Given the description of an element on the screen output the (x, y) to click on. 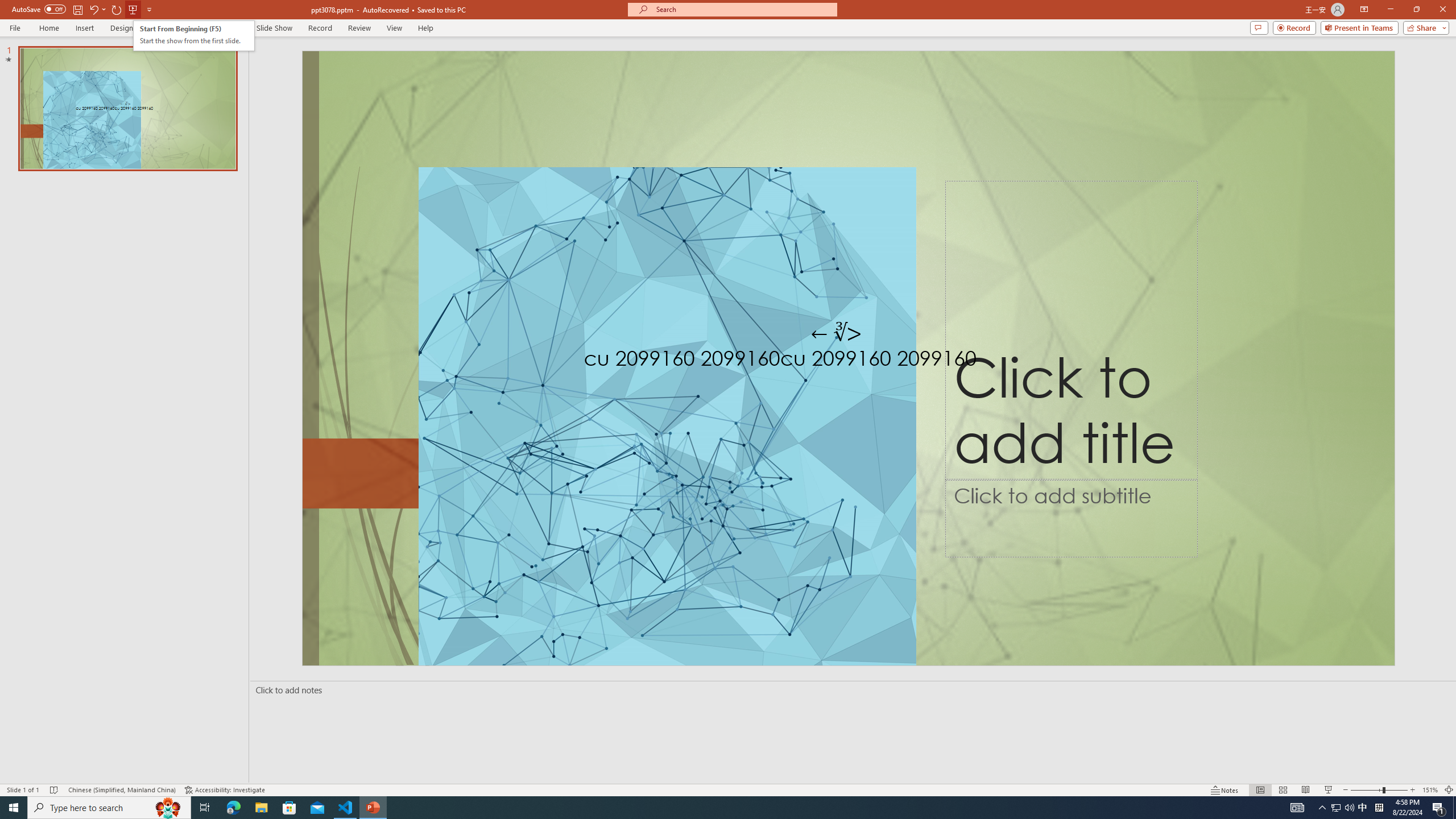
Zoom 151% (1430, 790)
